Given the description of an element on the screen output the (x, y) to click on. 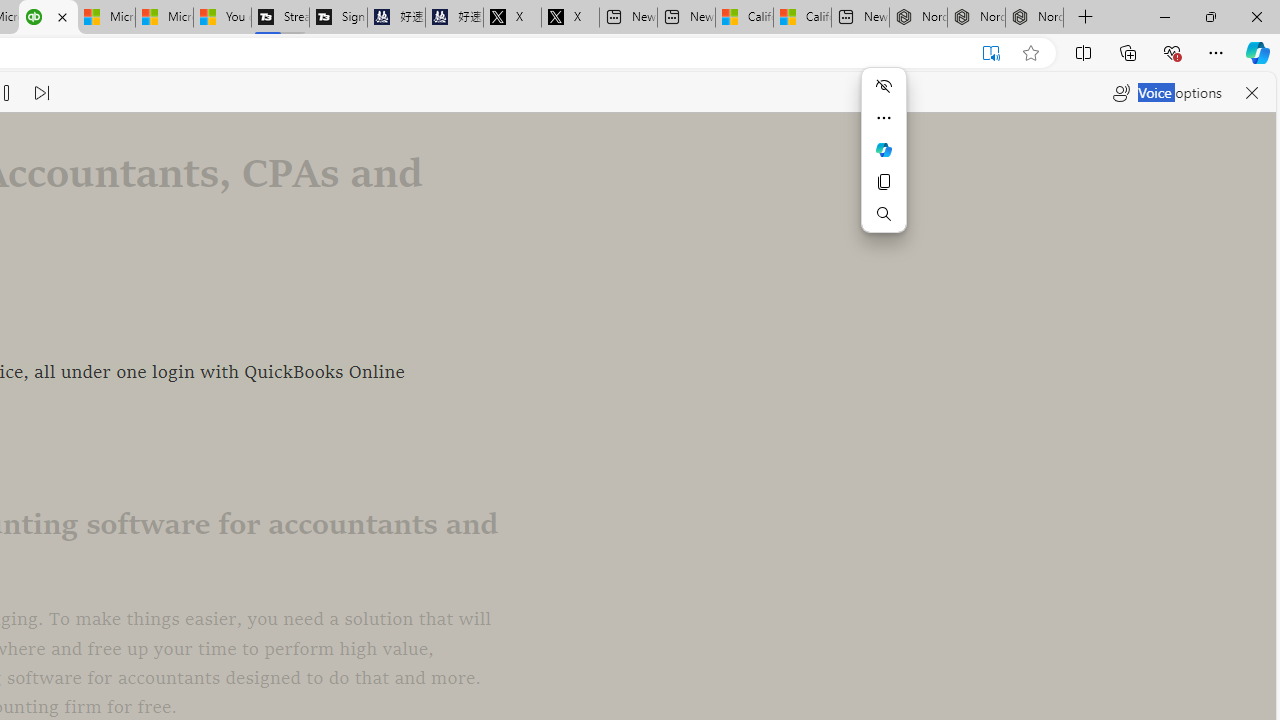
Voice options (1167, 92)
Close read aloud (1252, 92)
Exit Immersive Reader (F9) (991, 53)
Mini menu on text selection (883, 161)
More actions (883, 117)
Nordace Siena Pro 15 Backpack (976, 17)
